Given the description of an element on the screen output the (x, y) to click on. 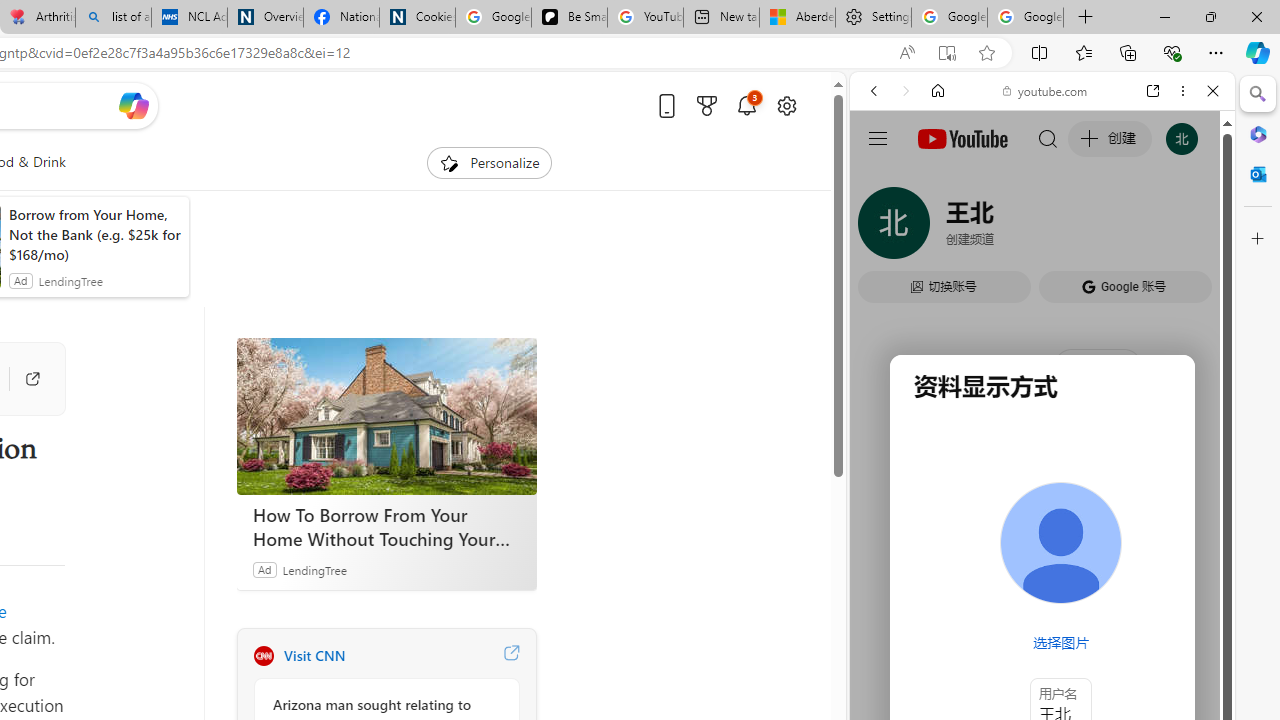
Trailer #2 [HD] (1042, 592)
CNN (263, 655)
